Given the description of an element on the screen output the (x, y) to click on. 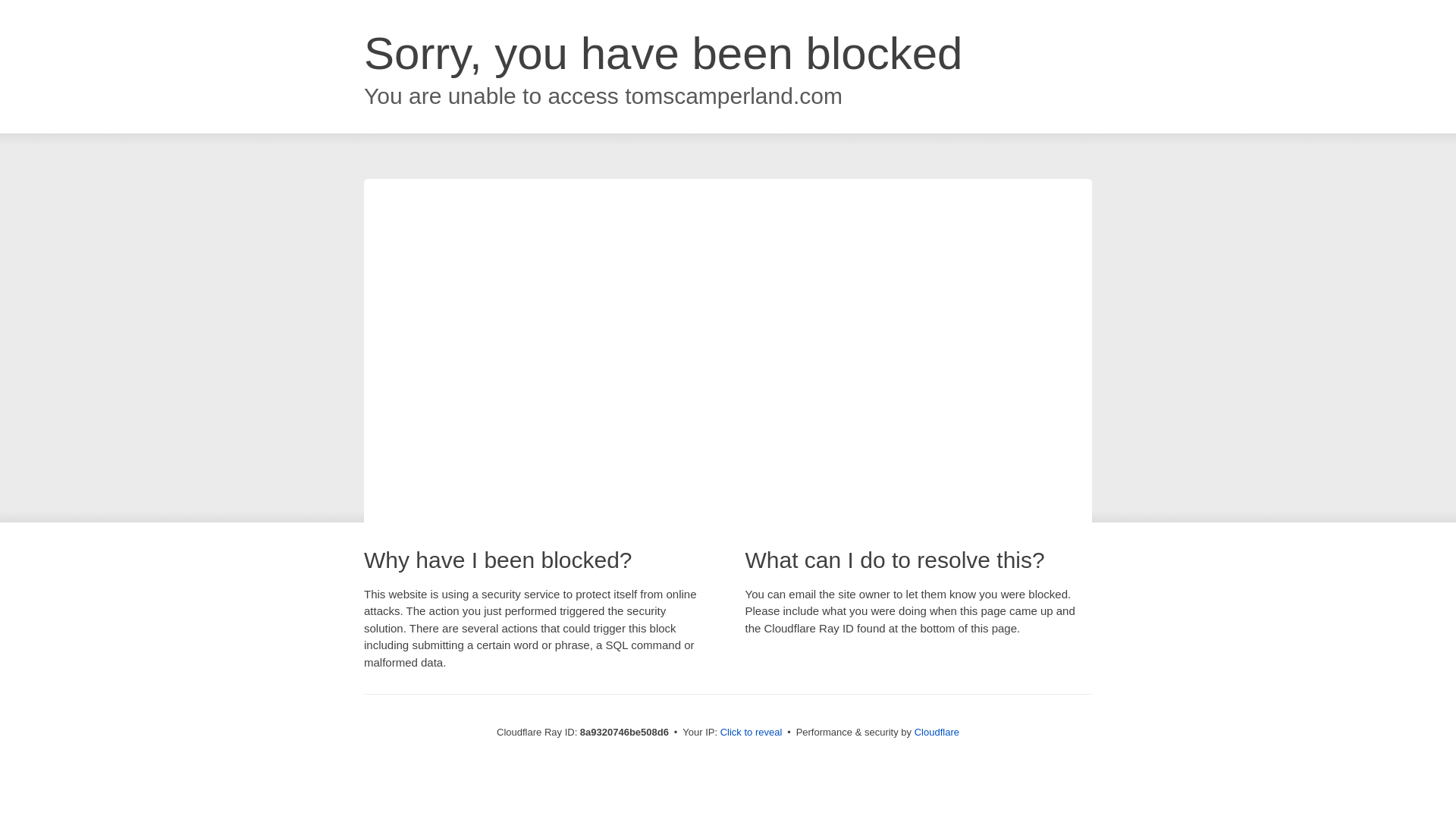
Click to reveal (751, 732)
Cloudflare (936, 731)
